Given the description of an element on the screen output the (x, y) to click on. 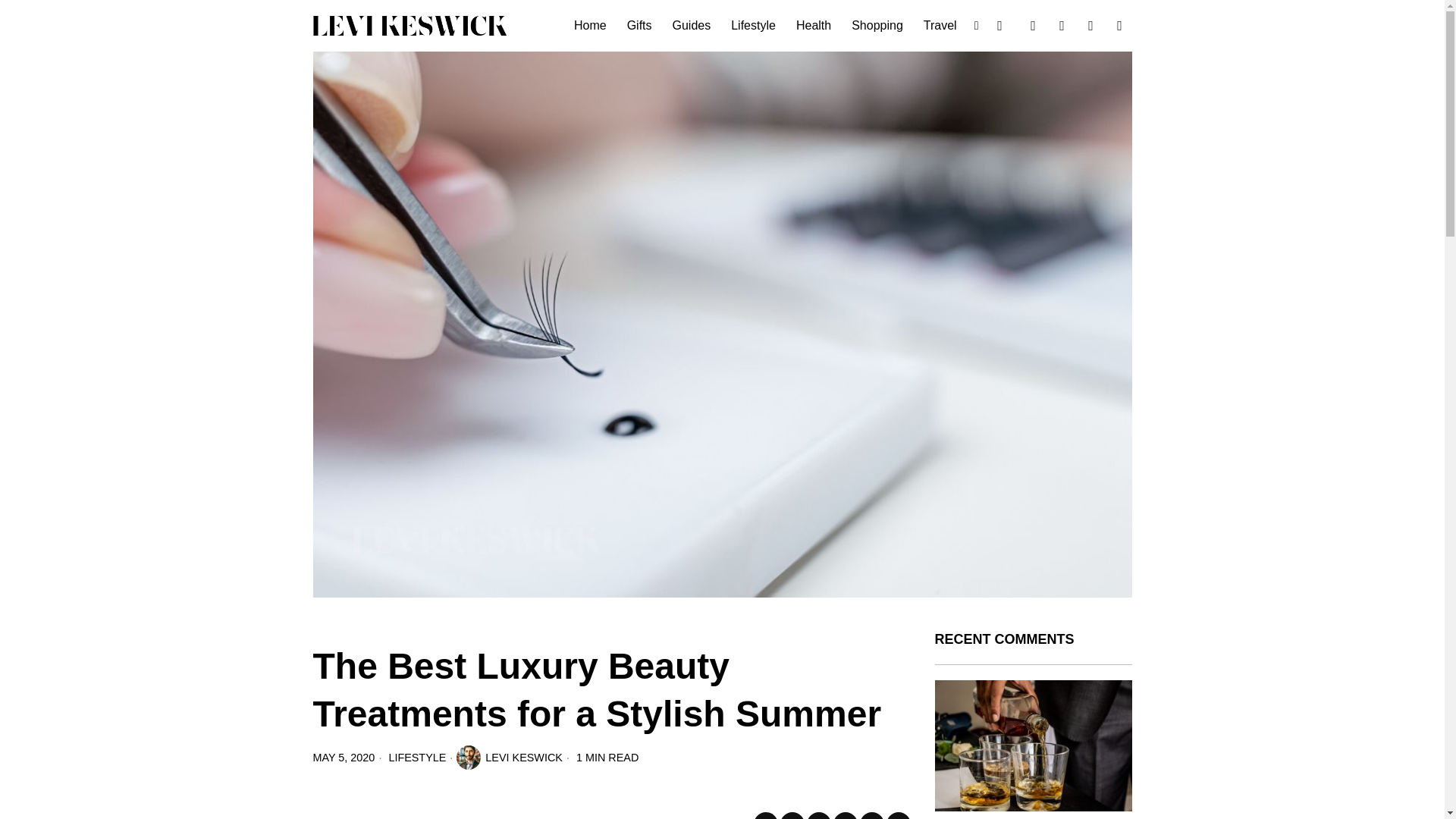
LEVI KESWICK (509, 757)
05 May, 2020 13:50:57 (343, 757)
Lifestyle (754, 25)
Gifts (640, 25)
Shopping (878, 25)
Home (590, 25)
Travel (941, 25)
Health (815, 25)
LIFESTYLE (416, 757)
Guides (692, 25)
